Given the description of an element on the screen output the (x, y) to click on. 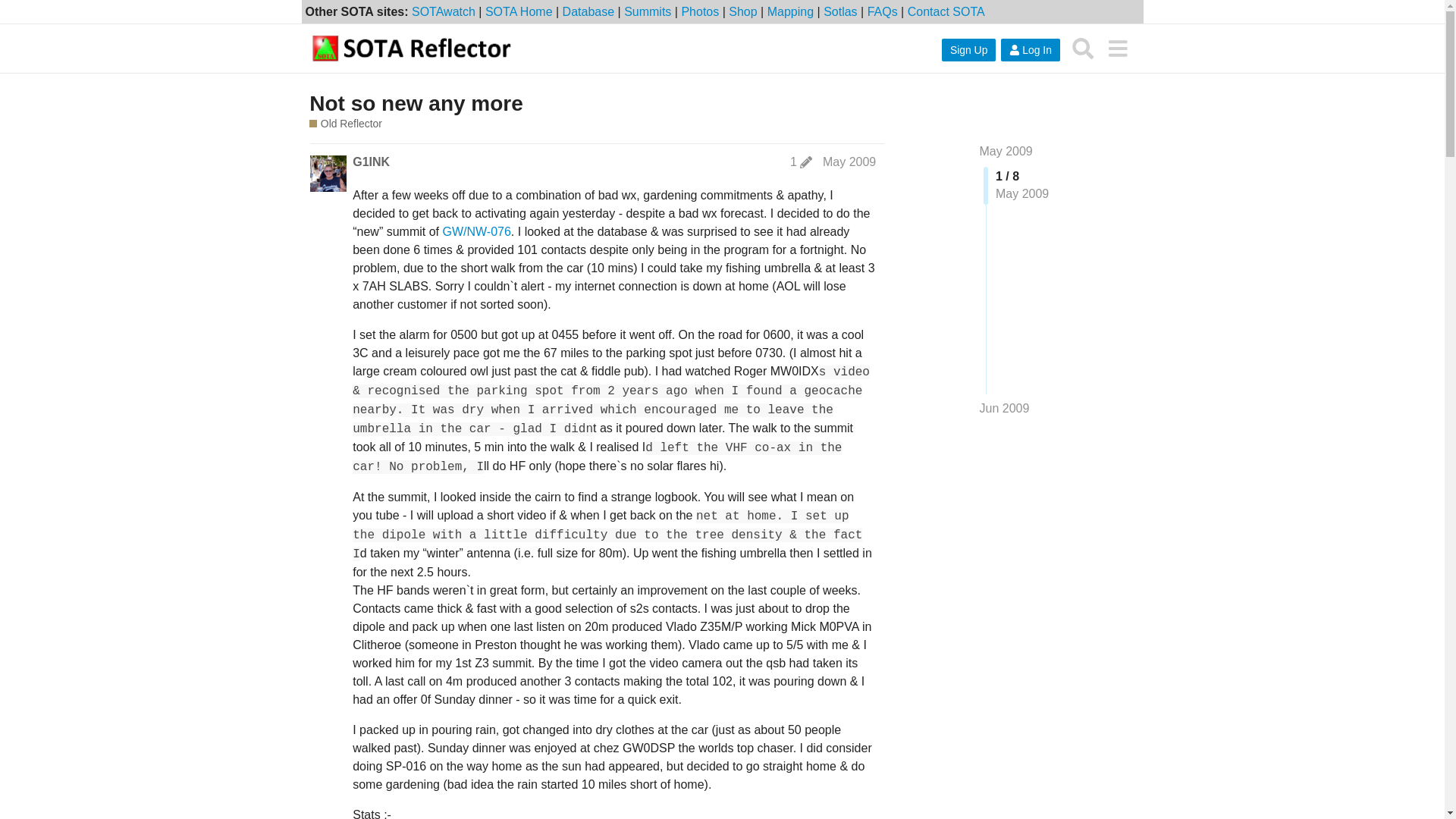
1 (801, 161)
Database (588, 11)
Mapping (790, 11)
Jun 2009 (1004, 408)
FAQs (882, 11)
May 2009 (1005, 151)
Not so new any more (415, 103)
Sotlas (840, 11)
Log In (1030, 49)
